Given the description of an element on the screen output the (x, y) to click on. 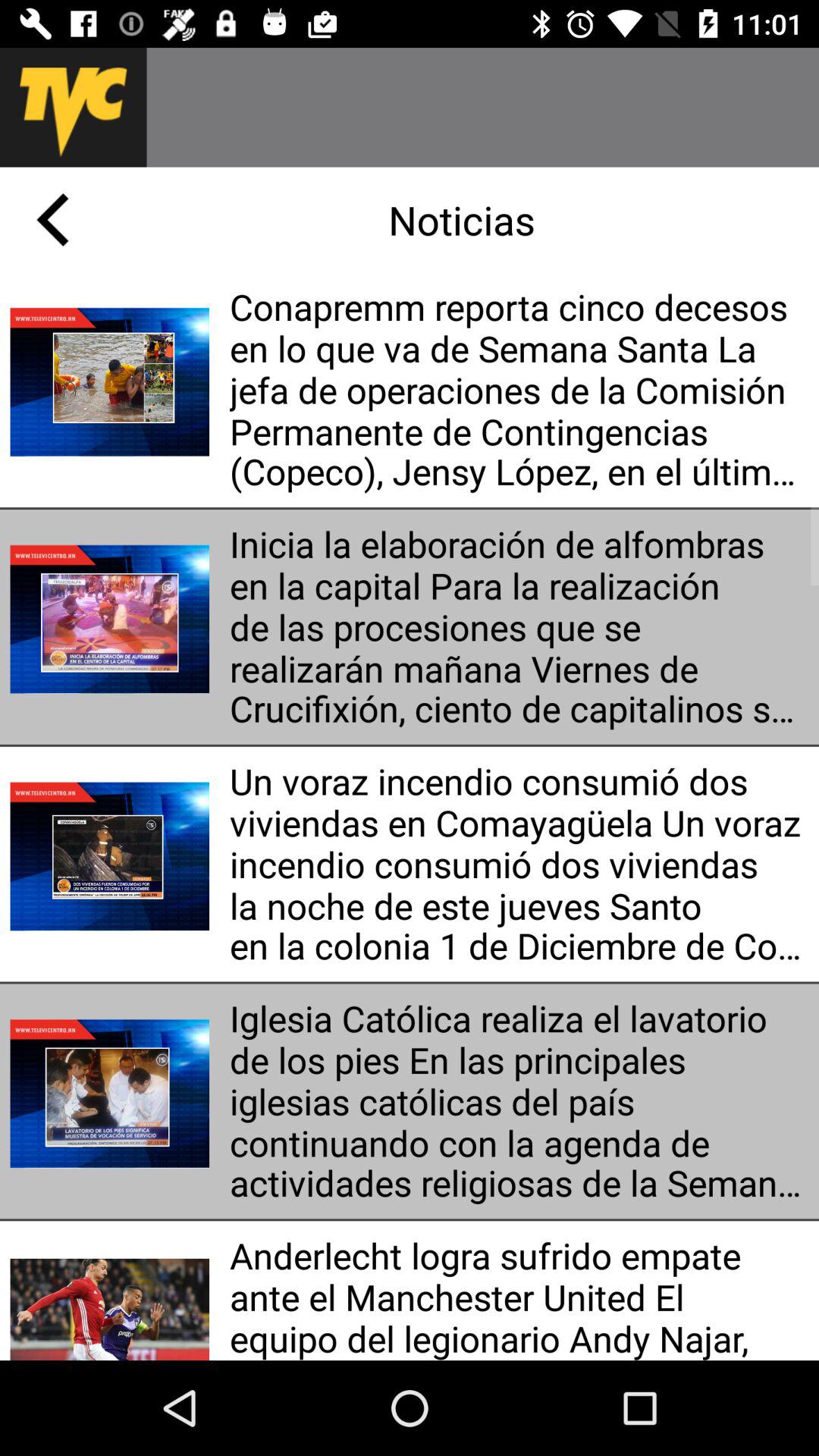
turn off conapremm reporta cinco (518, 389)
